Given the description of an element on the screen output the (x, y) to click on. 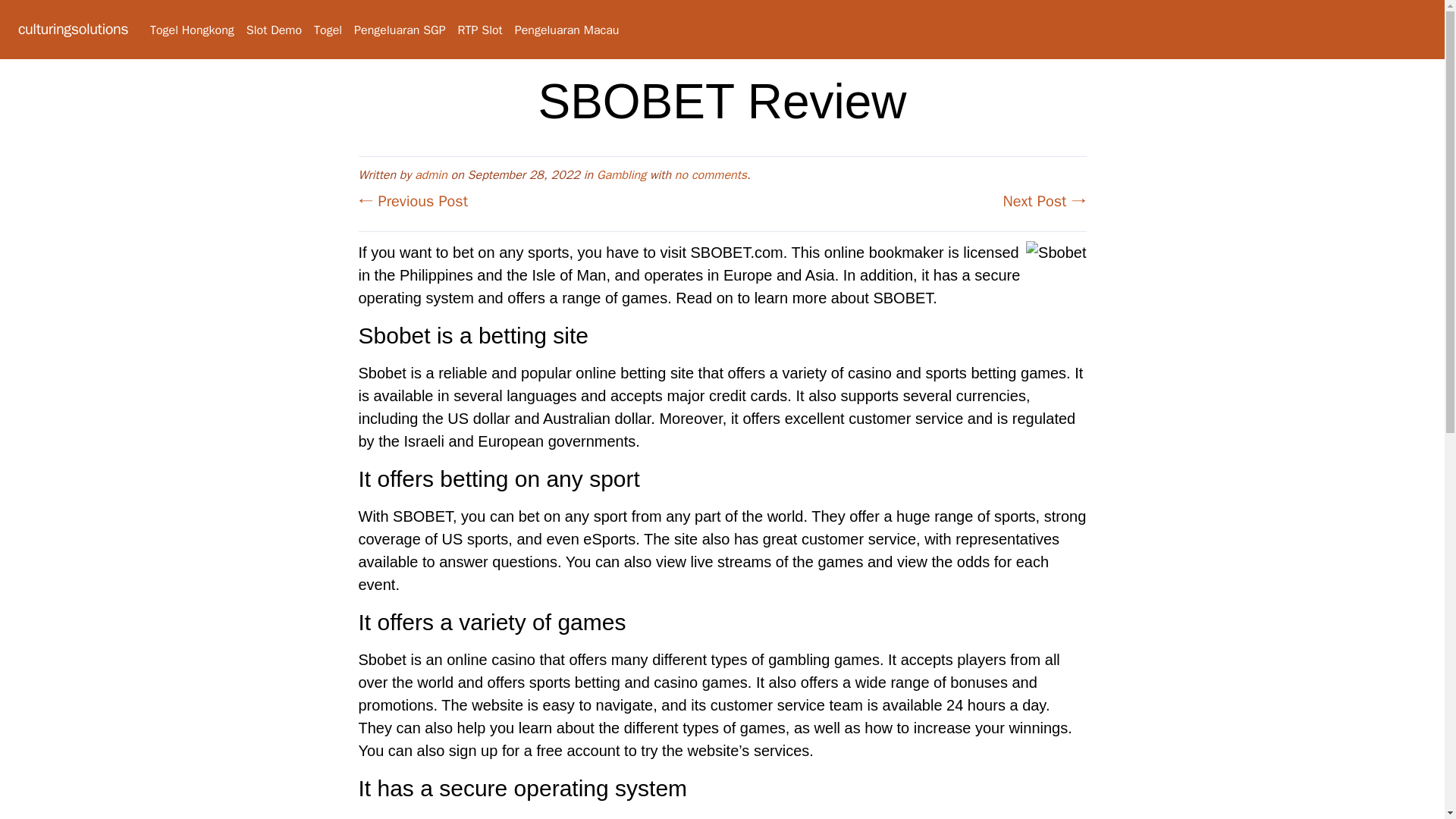
culturingsolutions (72, 29)
Pengeluaran Macau (567, 30)
Gambling (621, 174)
Slot Demo (273, 30)
admin (430, 174)
Pengeluaran SGP (399, 30)
RTP Slot (480, 30)
no comments (710, 174)
Togel Hongkong (191, 30)
Togel (328, 30)
no comments (710, 174)
